Given the description of an element on the screen output the (x, y) to click on. 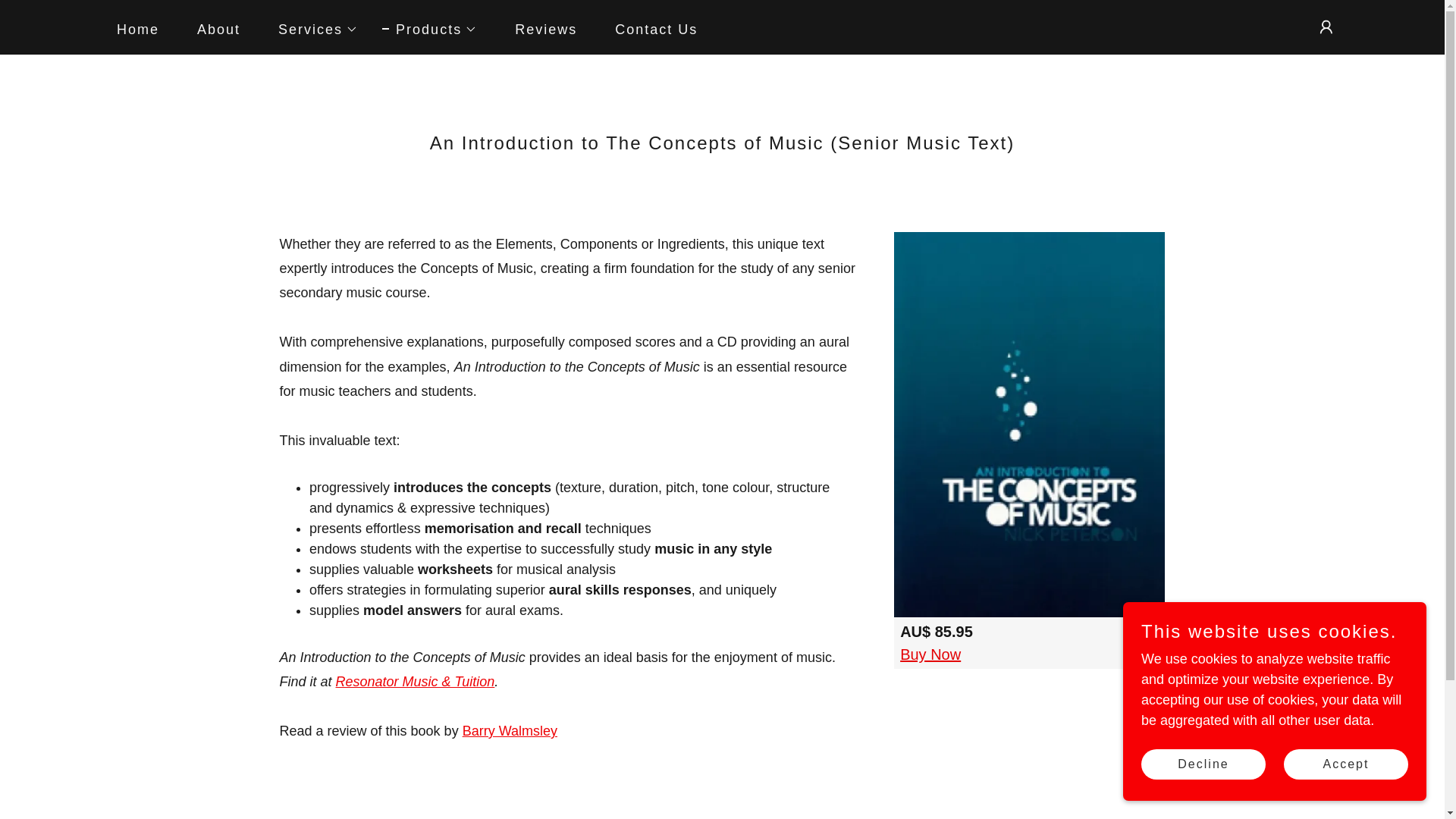
Services (311, 28)
Products (429, 28)
Reviews (538, 28)
Contact Us (648, 28)
Home (131, 28)
About (211, 28)
